Given the description of an element on the screen output the (x, y) to click on. 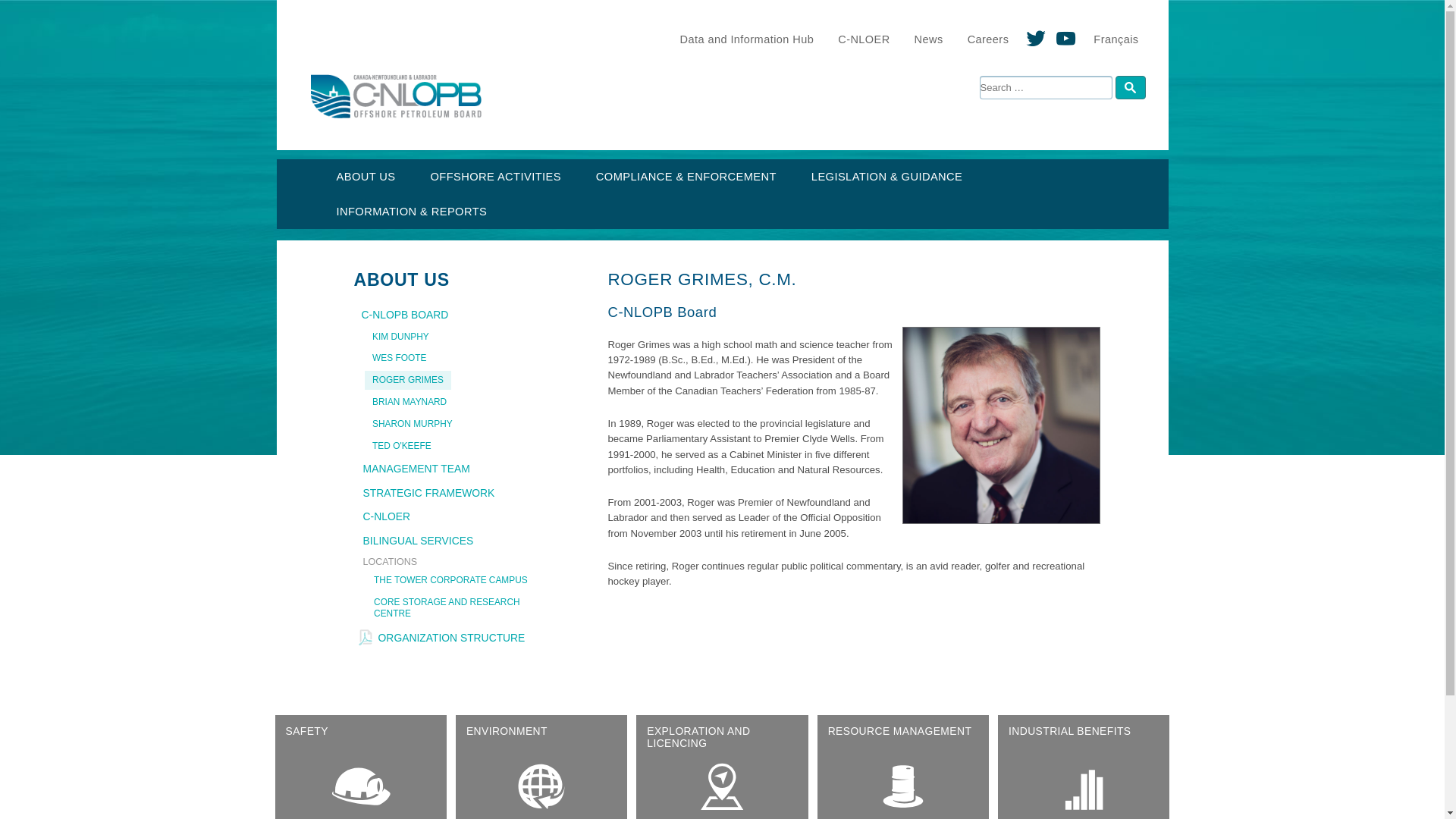
News (928, 39)
OFFSHORE ACTIVITIES (494, 176)
ABOUT US (365, 176)
Data and Information Hub (747, 39)
C-NLOER (863, 39)
Careers (988, 39)
